Given the description of an element on the screen output the (x, y) to click on. 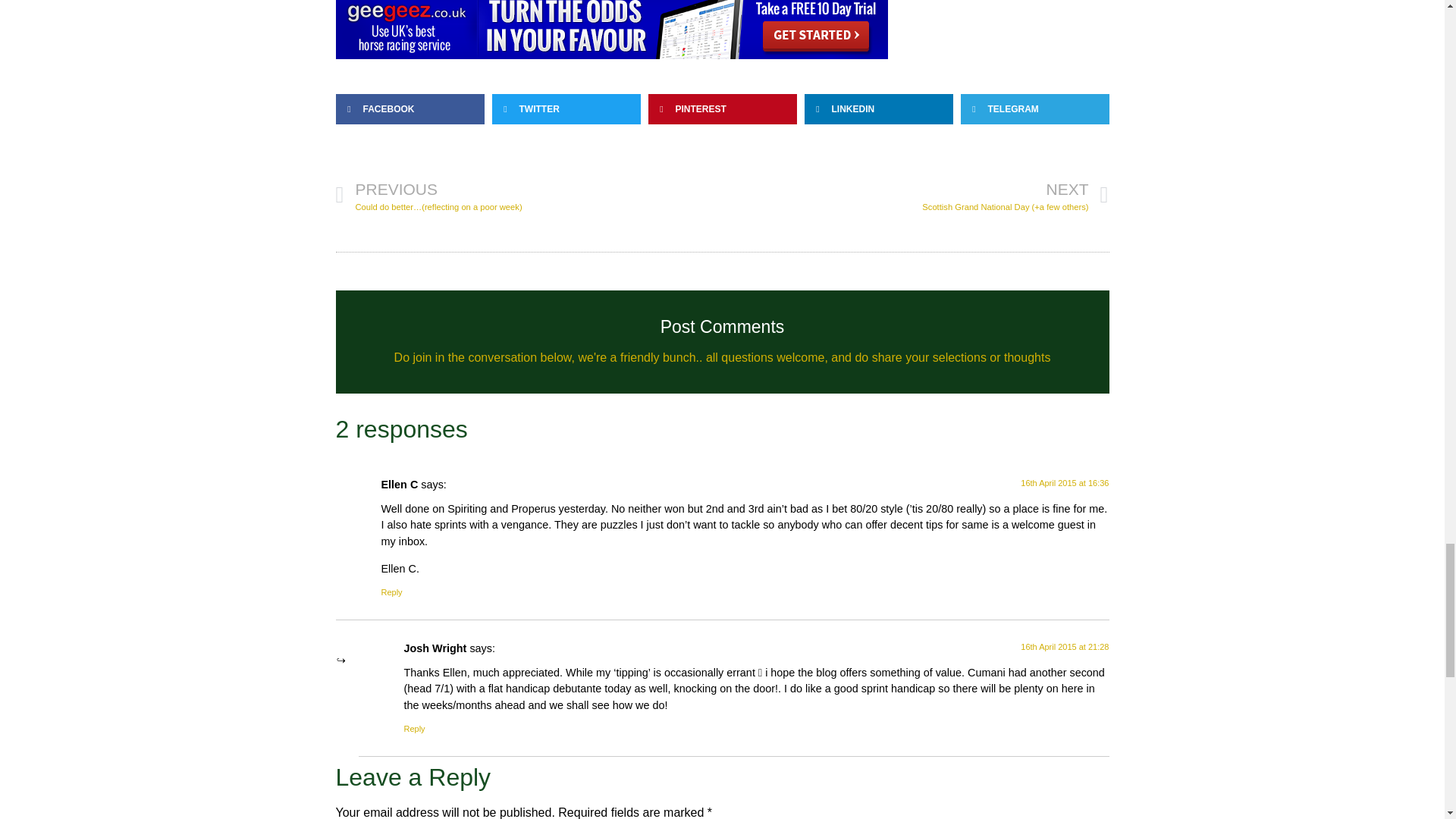
16th April 2015 at 16:36 (1064, 482)
Reply (390, 592)
